Given the description of an element on the screen output the (x, y) to click on. 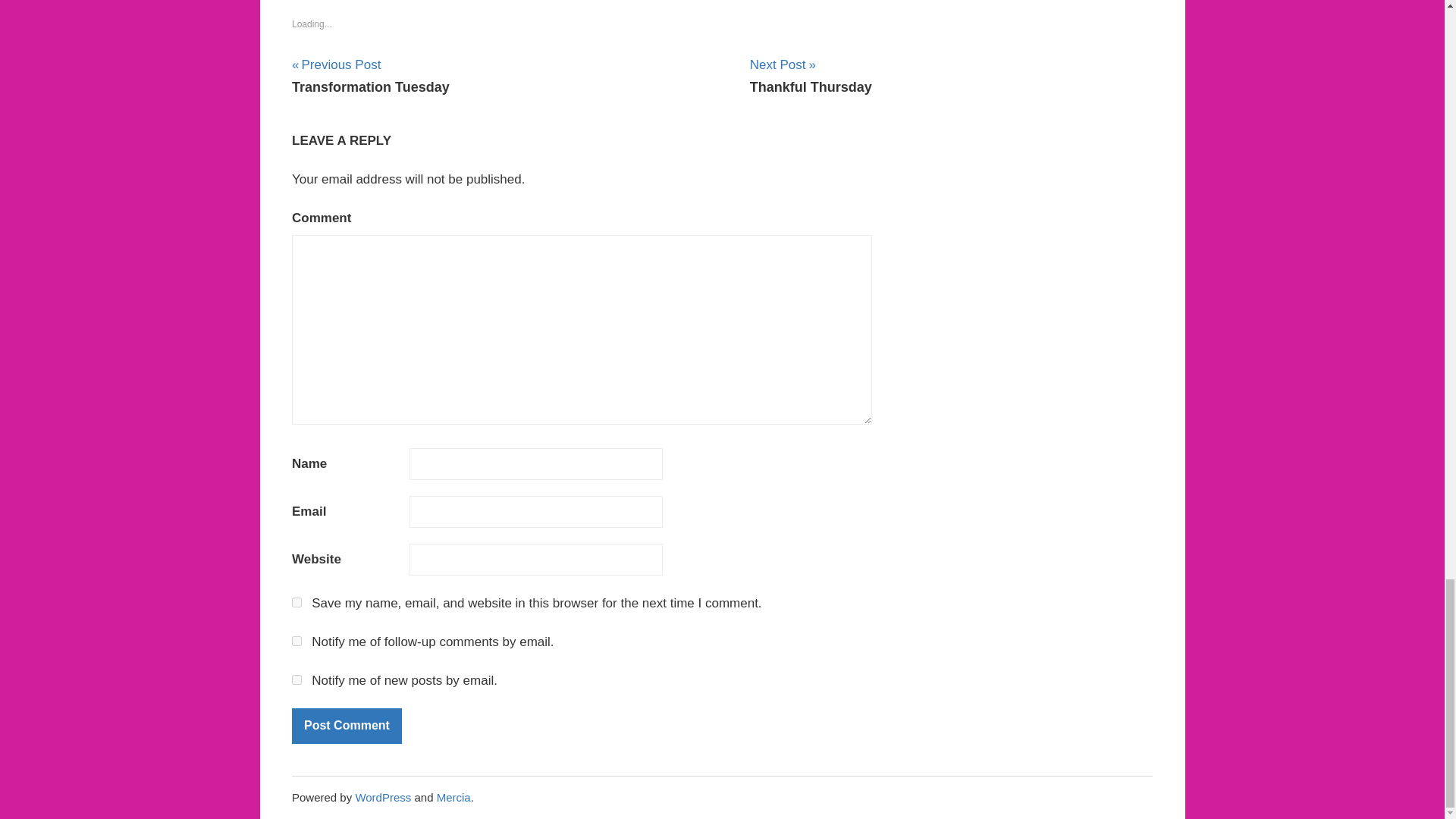
yes (296, 602)
subscribe (296, 679)
Mercia (453, 797)
WordPress (382, 797)
Mercia WordPress Theme (370, 75)
Post Comment (453, 797)
WordPress (346, 725)
Post Comment (382, 797)
subscribe (346, 725)
